Given the description of an element on the screen output the (x, y) to click on. 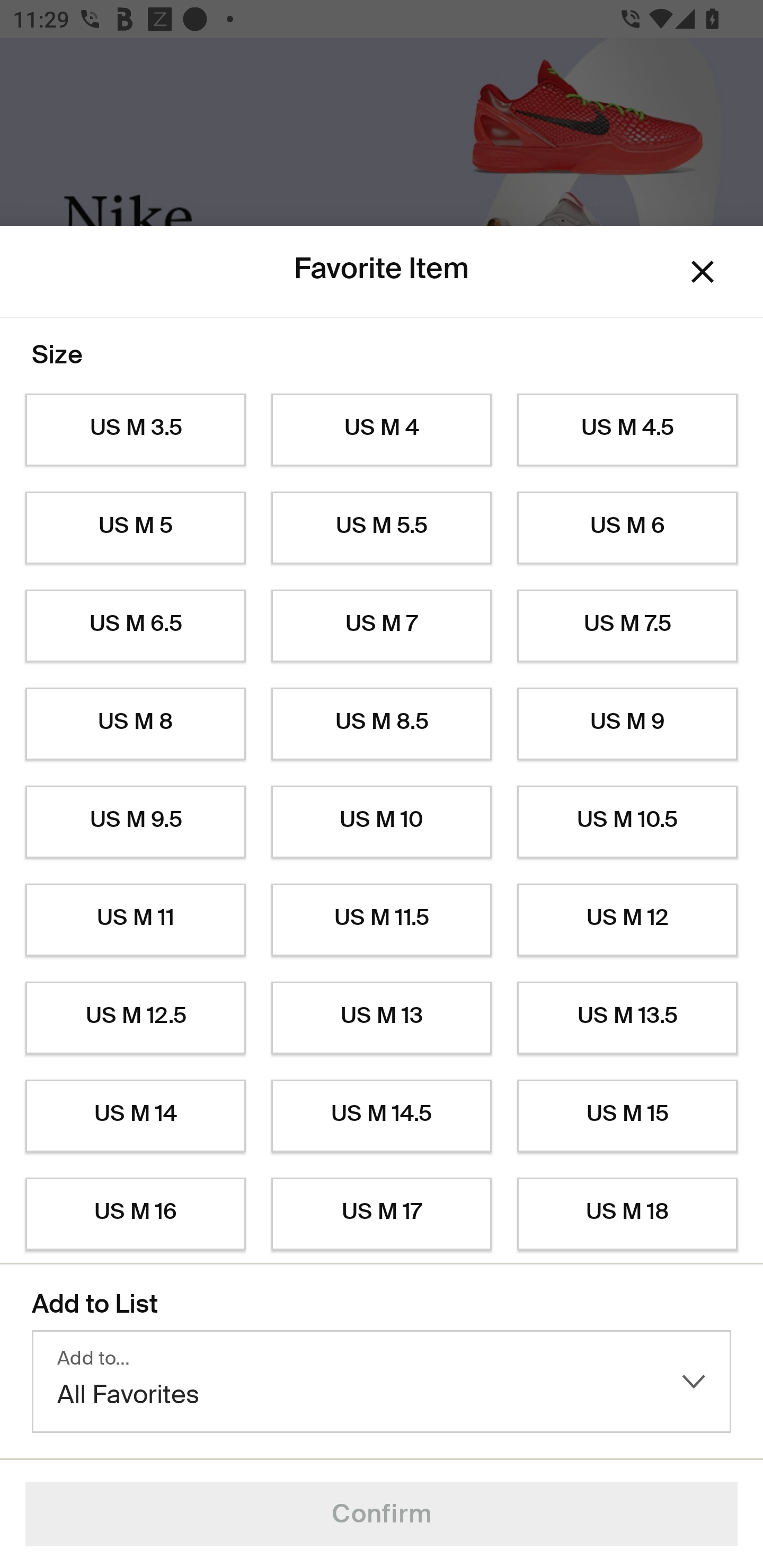
Dismiss (702, 271)
US M 3.5 (135, 430)
US M 4 (381, 430)
US M 4.5 (627, 430)
US M 5 (135, 527)
US M 5.5 (381, 527)
US M 6 (627, 527)
US M 6.5 (135, 626)
US M 7 (381, 626)
US M 7.5 (627, 626)
US M 8 (135, 724)
US M 8.5 (381, 724)
US M 9 (627, 724)
US M 9.5 (135, 822)
US M 10 (381, 822)
US M 10.5 (627, 822)
US M 11 (135, 919)
US M 11.5 (381, 919)
US M 12 (627, 919)
US M 12.5 (135, 1018)
US M 13 (381, 1018)
US M 13.5 (627, 1018)
US M 14 (135, 1116)
US M 14.5 (381, 1116)
US M 15 (627, 1116)
US M 16 (135, 1214)
US M 17 (381, 1214)
US M 18 (627, 1214)
Add to… All Favorites (381, 1381)
Confirm (381, 1513)
